Given the description of an element on the screen output the (x, y) to click on. 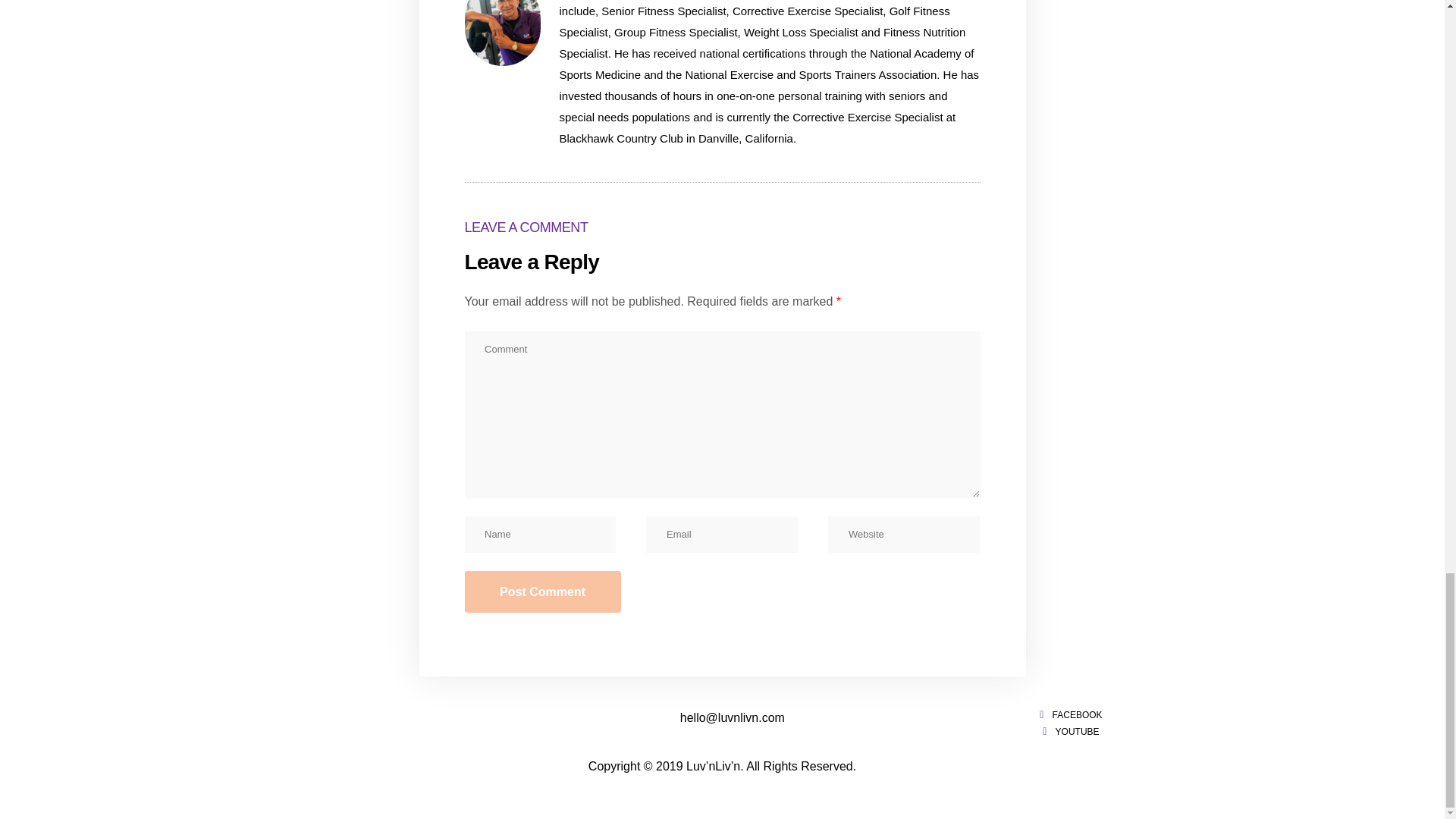
YOUTUBE (1068, 732)
Post Comment (542, 590)
FACEBOOK (1068, 714)
Post Comment (542, 590)
